Given the description of an element on the screen output the (x, y) to click on. 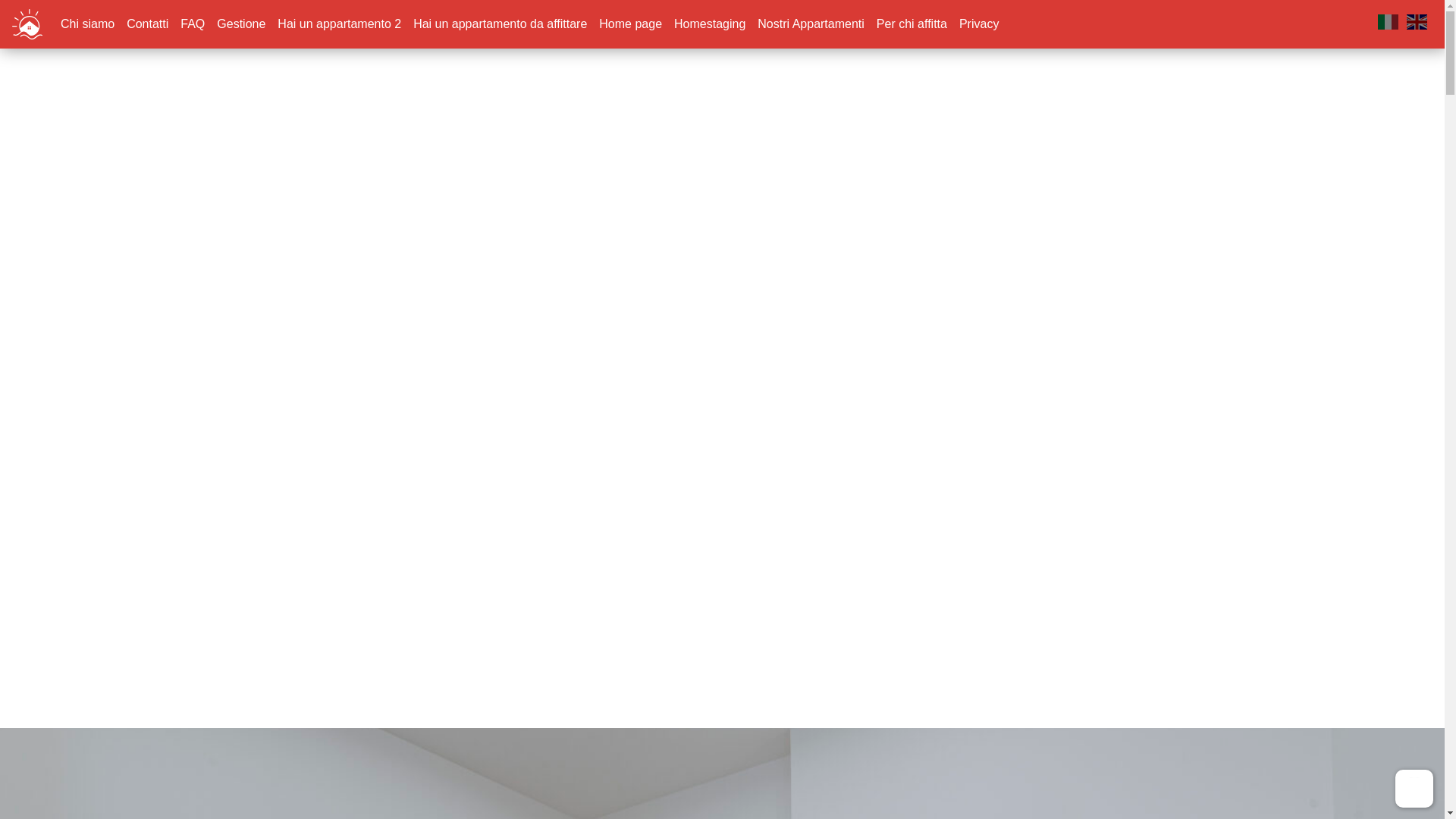
Homestaging (709, 24)
Chi siamo (87, 24)
Contatti (147, 24)
Hai un appartamento 2 (338, 24)
Nostri Appartamenti (810, 24)
FAQ (192, 24)
Per chi affitta (911, 24)
Home page (630, 24)
Gestione (240, 24)
Privacy (978, 24)
Hai un appartamento da affittare (499, 24)
